Given the description of an element on the screen output the (x, y) to click on. 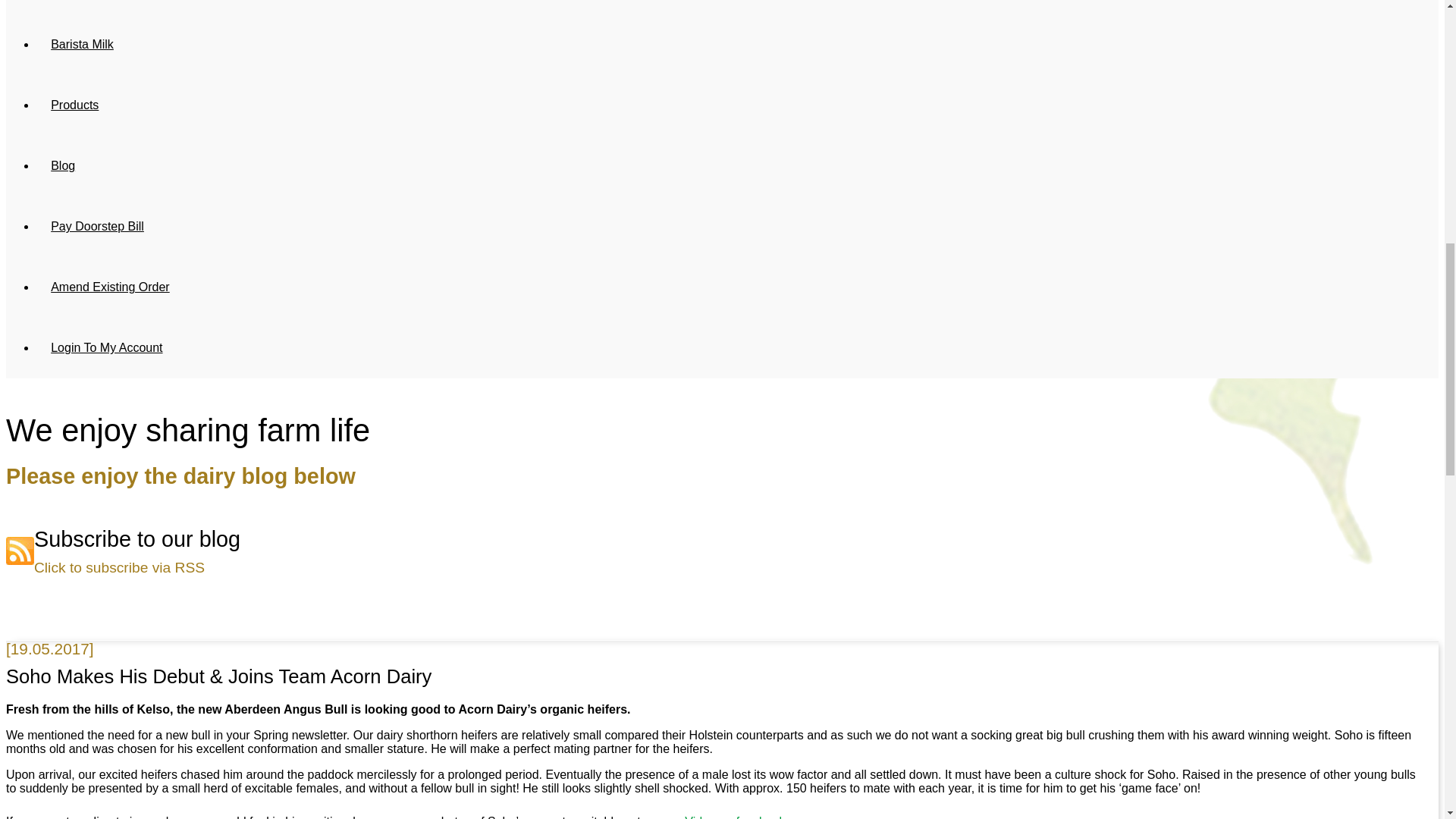
Pay Doorstep Bill (97, 226)
Barista Milk (82, 44)
Trade Delivery (90, 7)
Amend Existing Order (110, 287)
Login To My Account (106, 347)
Products (74, 105)
